Given the description of an element on the screen output the (x, y) to click on. 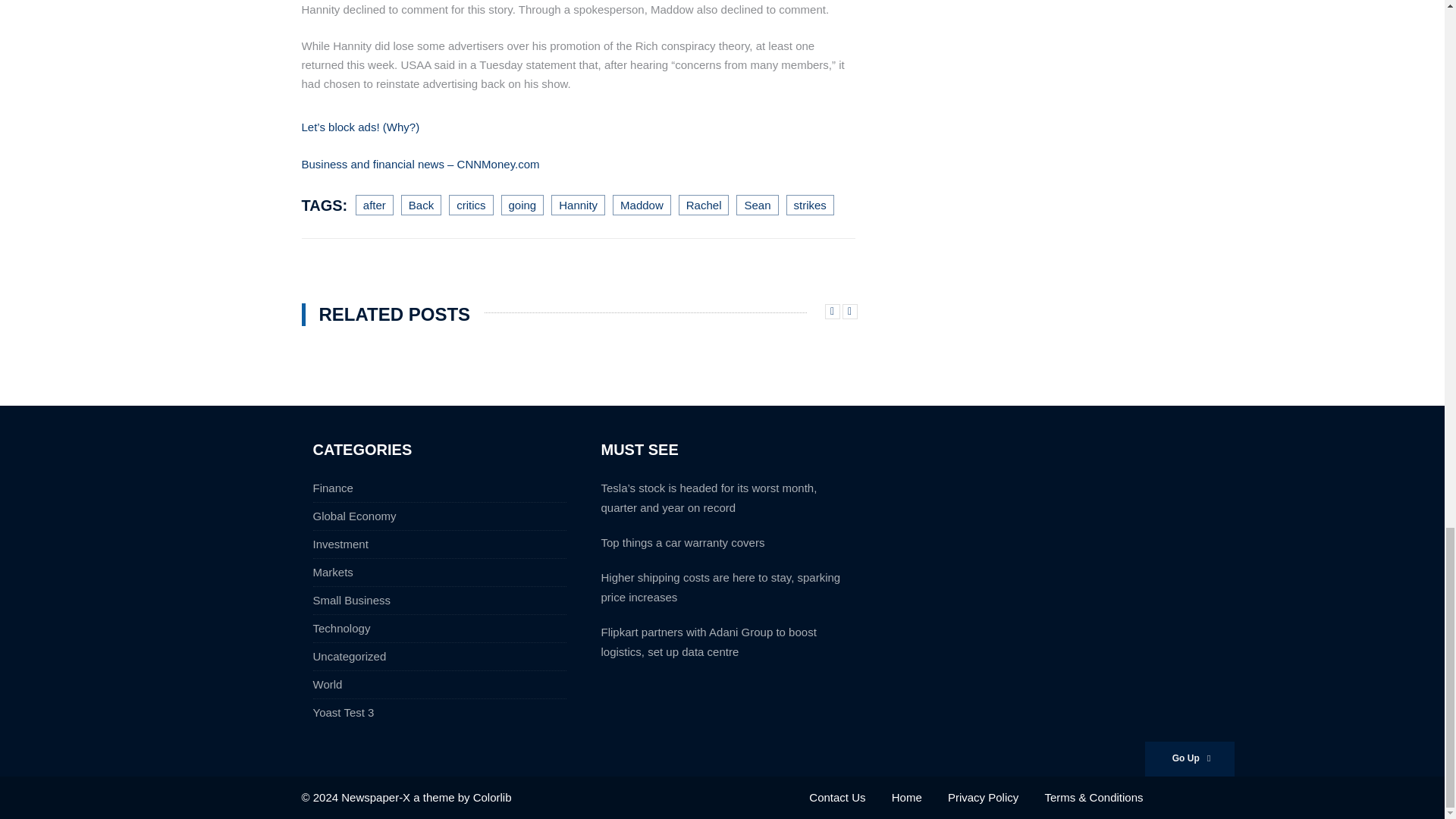
Maddow (641, 204)
Hannity (578, 204)
Back (421, 204)
critics (470, 204)
after (374, 204)
going (521, 204)
